Given the description of an element on the screen output the (x, y) to click on. 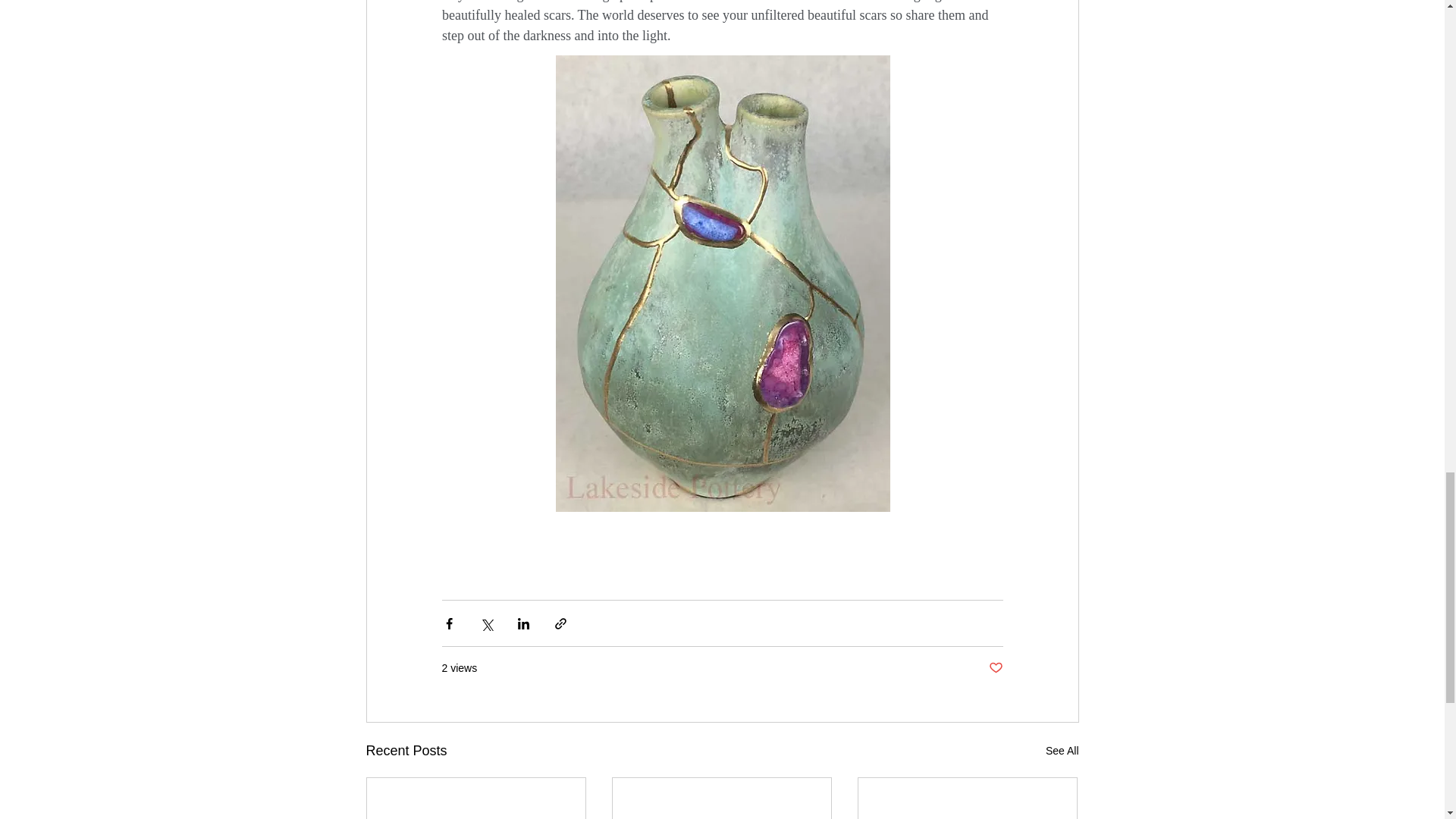
See All (1061, 751)
Post not marked as liked (995, 668)
